Given the description of an element on the screen output the (x, y) to click on. 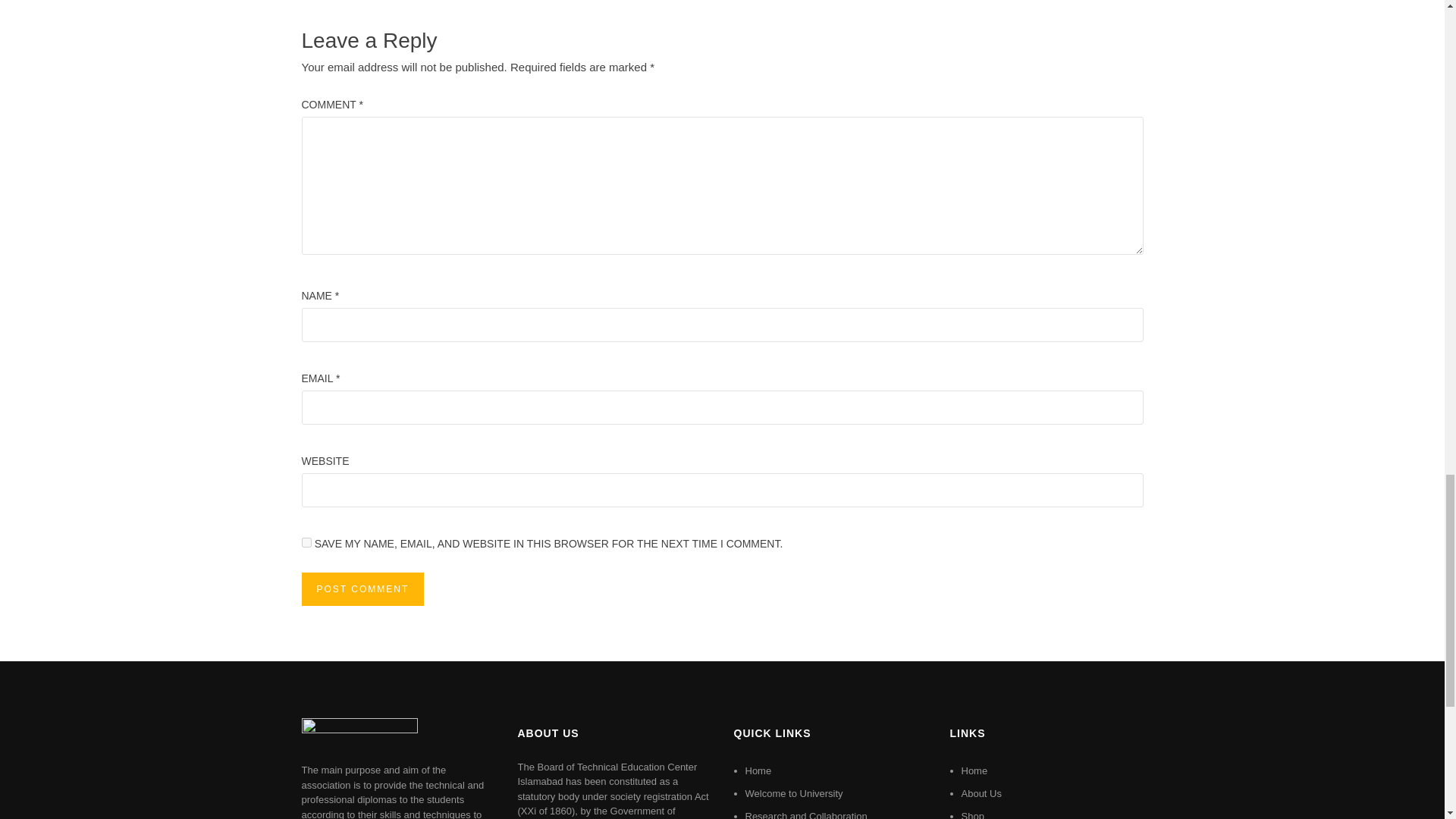
Post Comment (363, 589)
Home (974, 770)
Welcome to University (793, 793)
yes (306, 542)
About Us (980, 793)
Home (757, 770)
Shop (972, 814)
Research and Collaboration (805, 814)
Post Comment (363, 589)
